Given the description of an element on the screen output the (x, y) to click on. 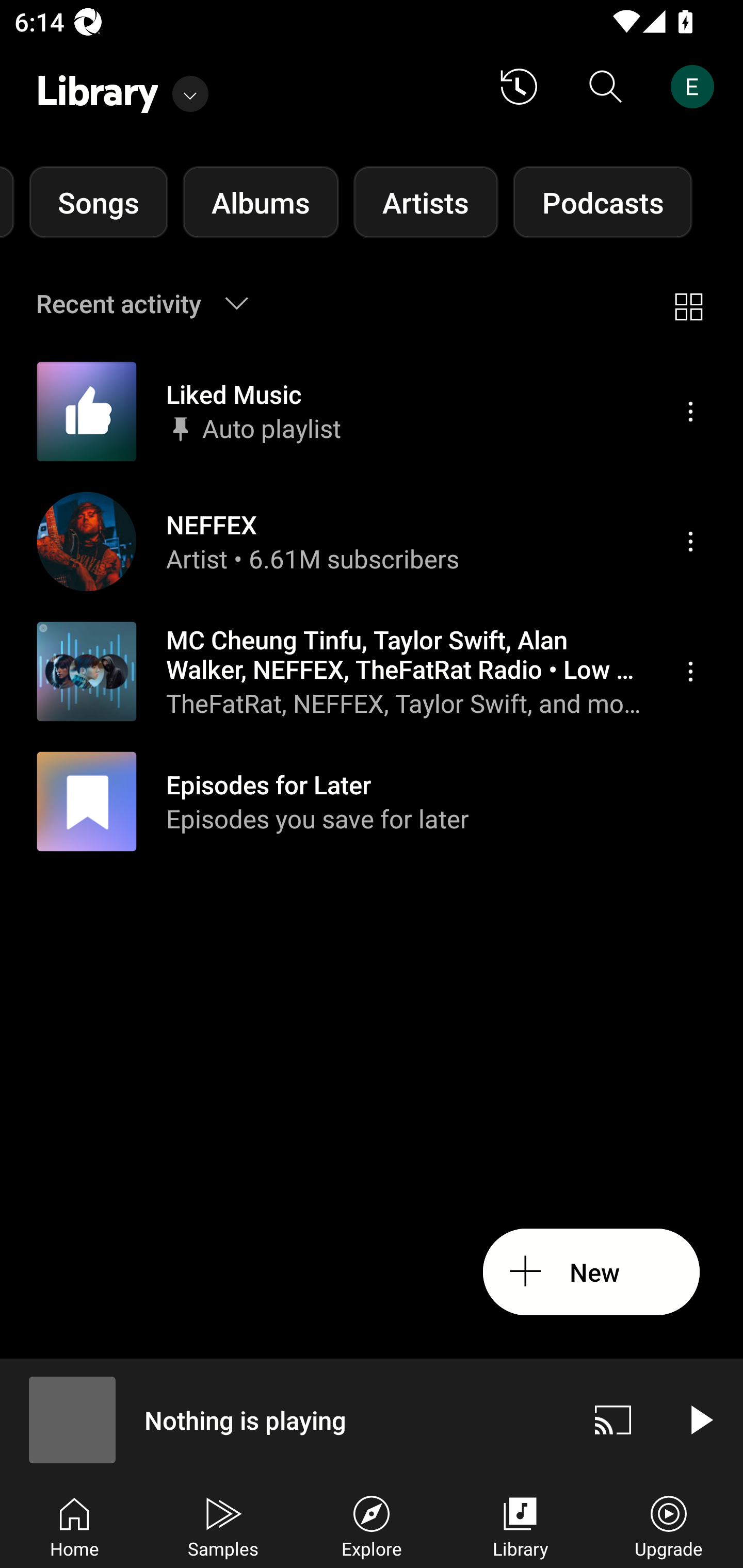
Show library landing selected Library (121, 86)
History (518, 86)
Search (605, 86)
Account (696, 86)
Recent activity selected Recent activity (154, 303)
Show in grid view (688, 303)
Menu (690, 411)
Menu (690, 540)
Menu (690, 671)
New (590, 1272)
Nothing is playing (284, 1419)
Cast. Disconnected (612, 1419)
Play video (699, 1419)
Home (74, 1524)
Samples (222, 1524)
Explore (371, 1524)
Upgrade (668, 1524)
